Given the description of an element on the screen output the (x, y) to click on. 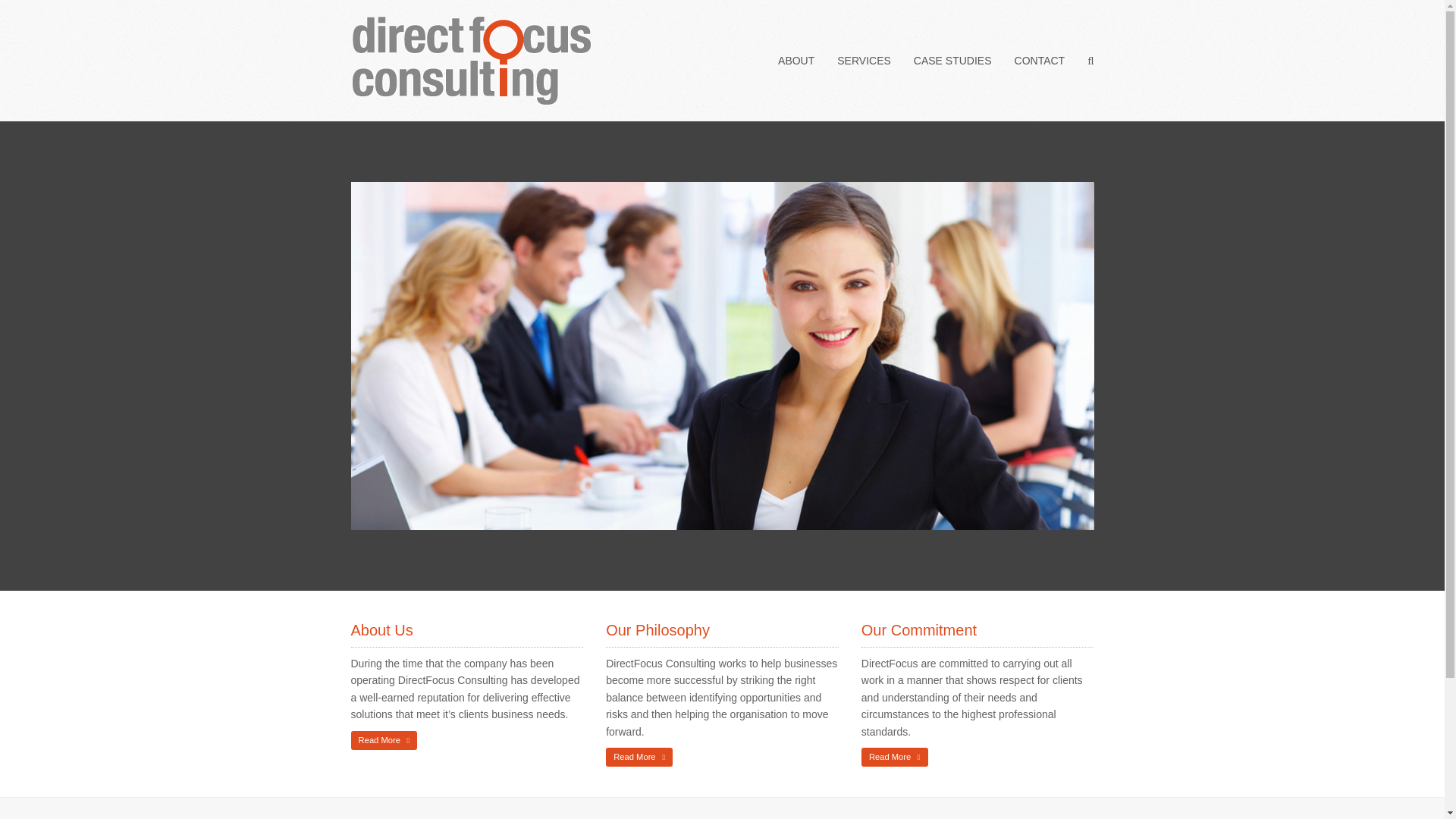
CONTACT Element type: text (1039, 60)
Read More Element type: text (638, 756)
SERVICES Element type: text (863, 60)
ABOUT Element type: text (795, 60)
CASE STUDIES Element type: text (952, 60)
Read More Element type: text (894, 756)
Read More Element type: text (383, 740)
